Given the description of an element on the screen output the (x, y) to click on. 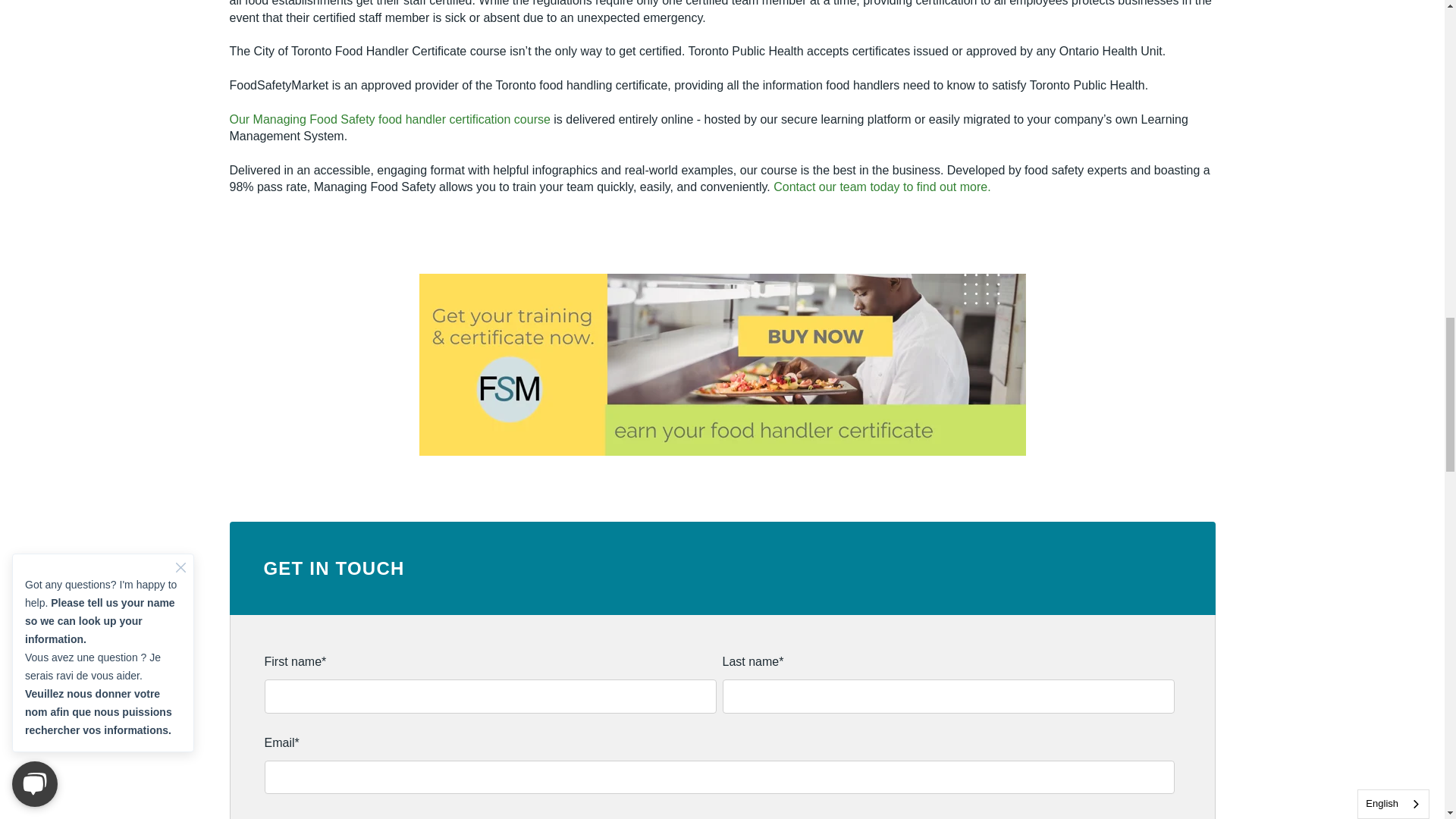
Individual Food Handler Certificate (722, 364)
Our Managing Food Safety food handler certification course (390, 119)
